Given the description of an element on the screen output the (x, y) to click on. 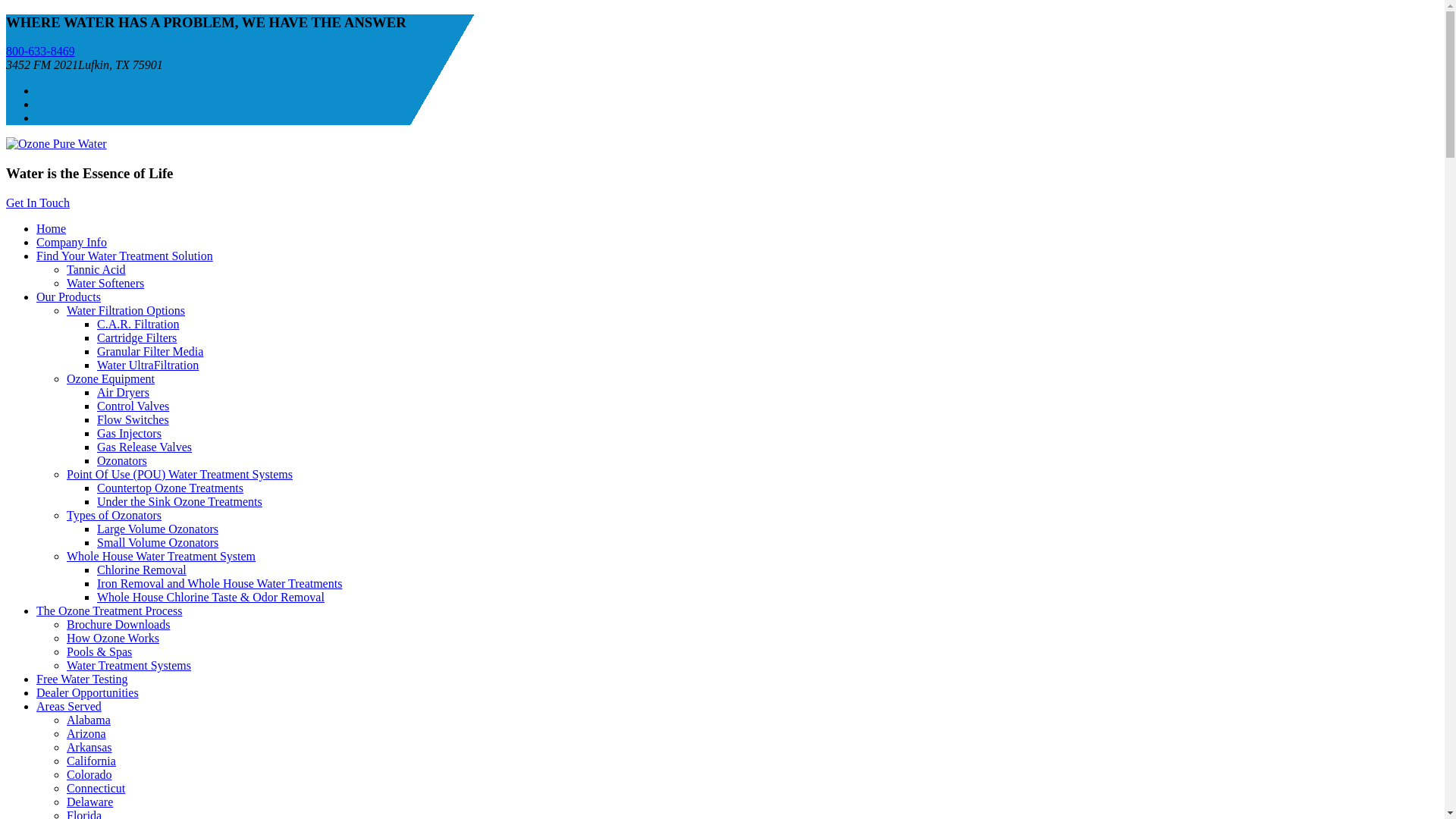
Whole House Water Treatment System (161, 555)
Gas Injectors (129, 432)
Our Products (68, 296)
Ozonators (122, 460)
C.A.R. Filtration (138, 323)
The Ozone Treatment Process (109, 610)
Ozone Equipment (110, 378)
Cartridge Filters (136, 337)
Water Filtration Options (125, 309)
Small Volume Ozonators (157, 542)
